Given the description of an element on the screen output the (x, y) to click on. 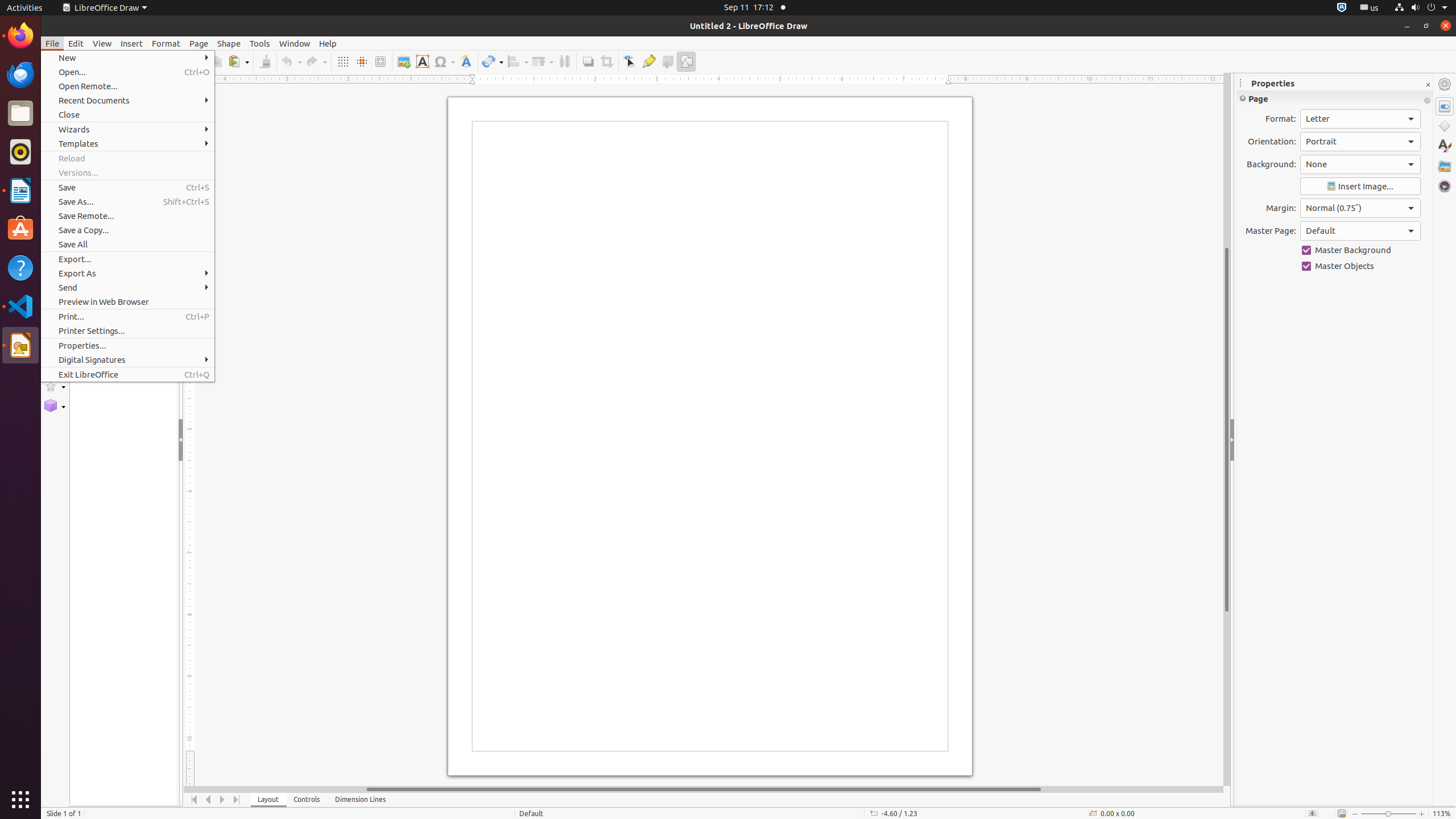
Master Objects Element type: check-box (1360, 265)
Edit Points Element type: push-button (629, 61)
Master Background Element type: check-box (1360, 249)
Redo Element type: push-button (315, 61)
Tools Element type: menu (259, 43)
